Given the description of an element on the screen output the (x, y) to click on. 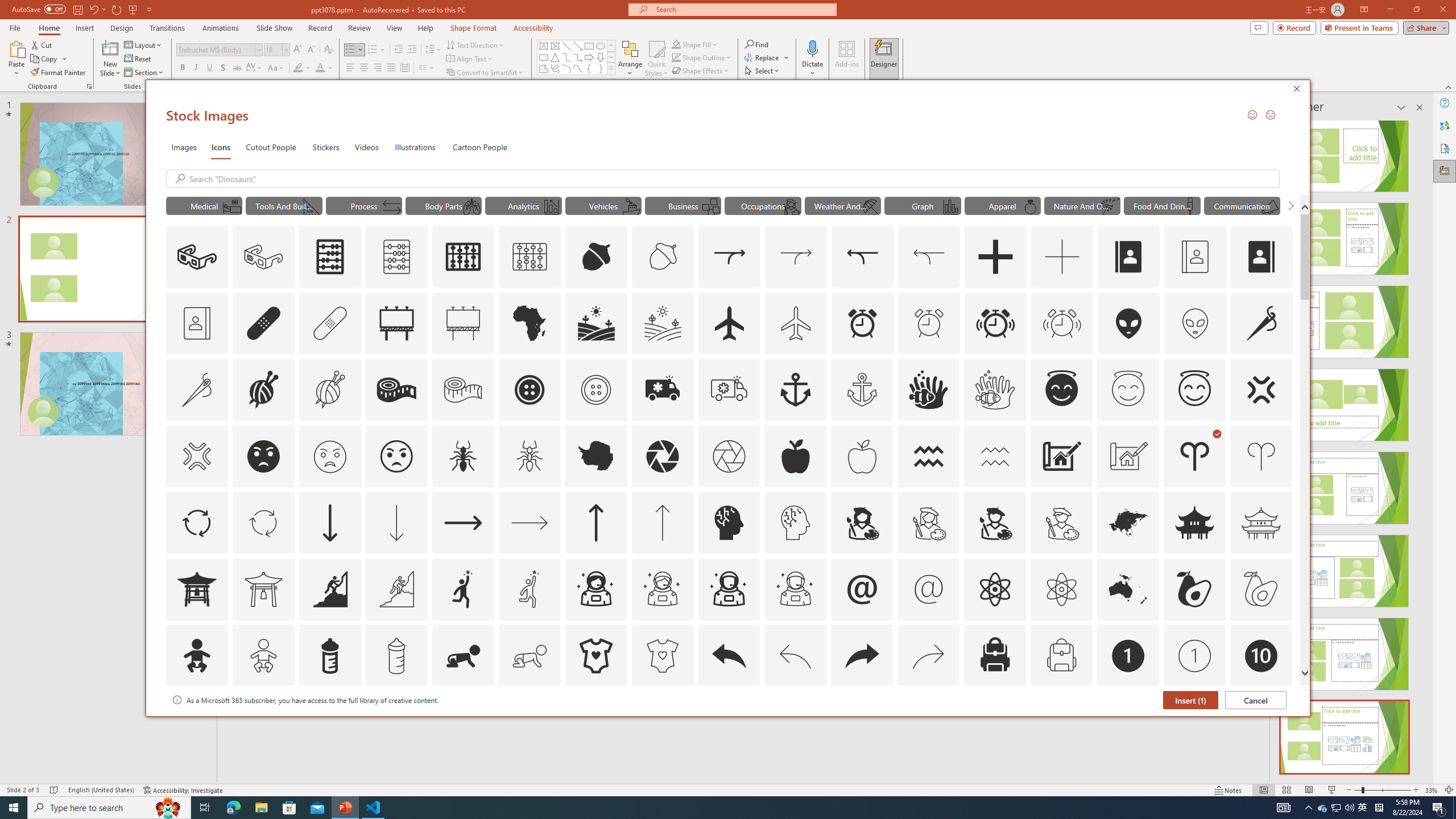
AutomationID: Icons_ArrowRight (462, 522)
AutomationID: Icons_BabyCrawling (462, 655)
AutomationID: _134_Angel_Face_A (1061, 388)
Images (183, 146)
"Medical" Icons. (203, 205)
AutomationID: Icons_AngryFace_Outline (395, 455)
AutomationID: Icons_ArrowCircle_M (263, 522)
AutomationID: Icons_Africa (529, 323)
AutomationID: Icons_Architecture_M (1128, 455)
